Given the description of an element on the screen output the (x, y) to click on. 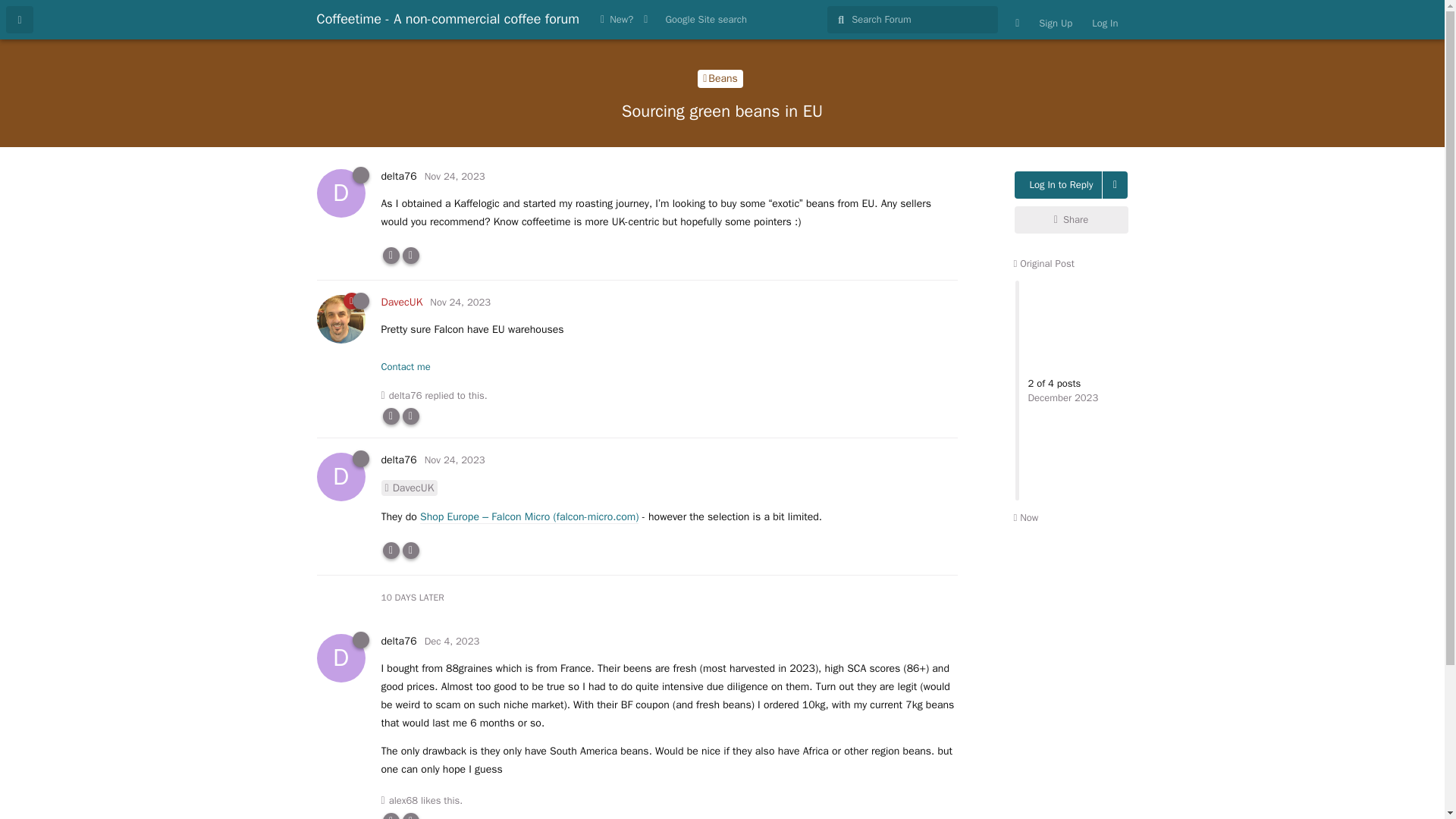
Monday, December 4, 2023 5:03 AM (398, 175)
Share (452, 640)
Beans (1071, 219)
Nov 24, 2023 (719, 78)
Original Post (459, 301)
Sign Up (1043, 263)
Now (1055, 22)
Google Site search (1025, 517)
Friday, November 24, 2023 2:34 AM (705, 19)
